Given the description of an element on the screen output the (x, y) to click on. 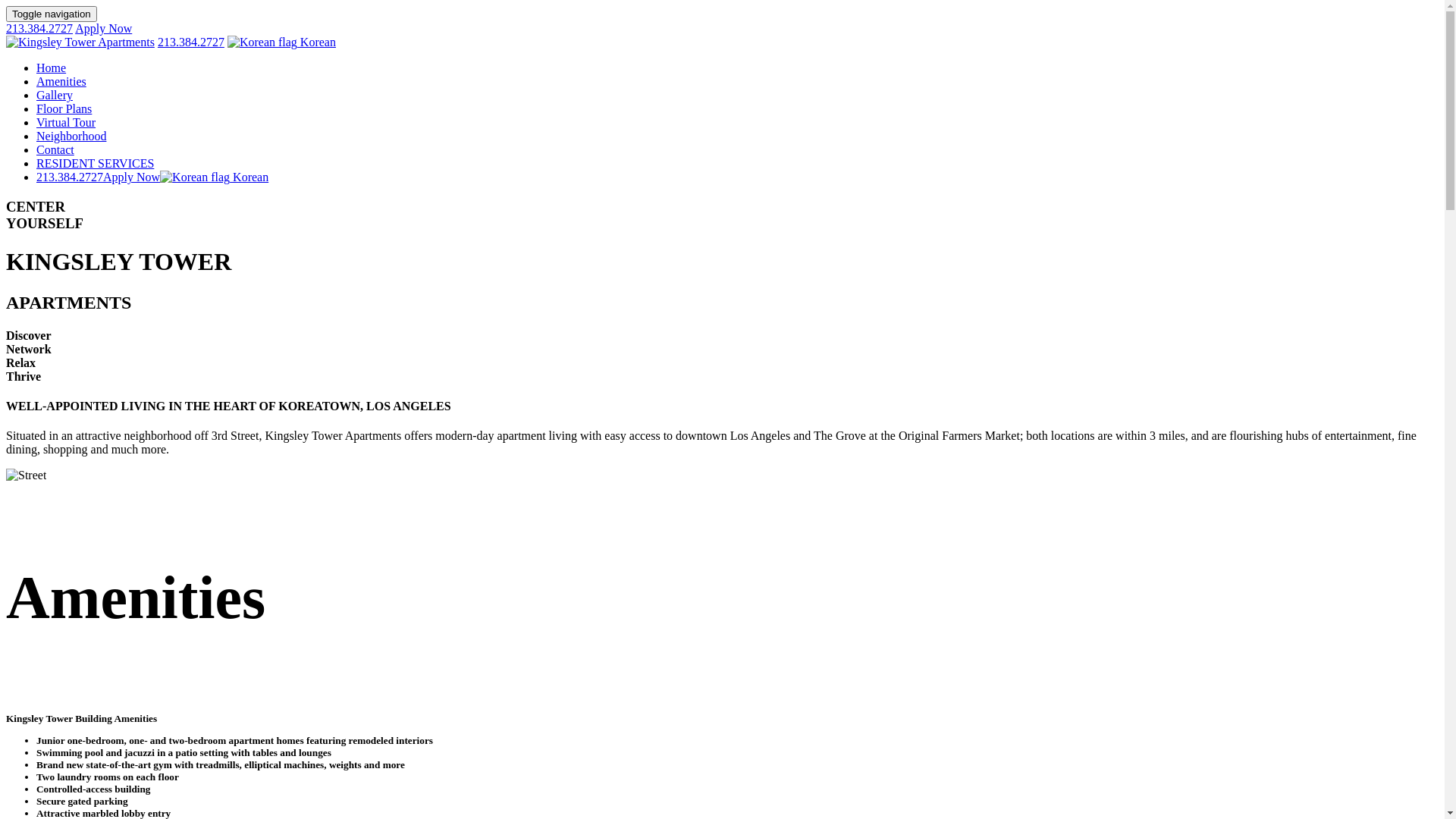
Virtual Tour Element type: text (65, 122)
Home Element type: text (50, 67)
Apply Now Element type: text (103, 27)
Amenities Element type: text (61, 81)
Floor Plans Element type: text (63, 108)
Apply Now Element type: text (131, 176)
RESIDENT SERVICES Element type: text (94, 162)
Korean Element type: text (214, 176)
Gallery Element type: text (54, 94)
213.384.2727 Element type: text (190, 41)
213.384.2727 Element type: text (39, 27)
Korean Element type: text (281, 41)
Contact Element type: text (55, 149)
Neighborhood Element type: text (71, 135)
213.384.2727 Element type: text (69, 176)
Toggle navigation Element type: text (51, 13)
